Given the description of an element on the screen output the (x, y) to click on. 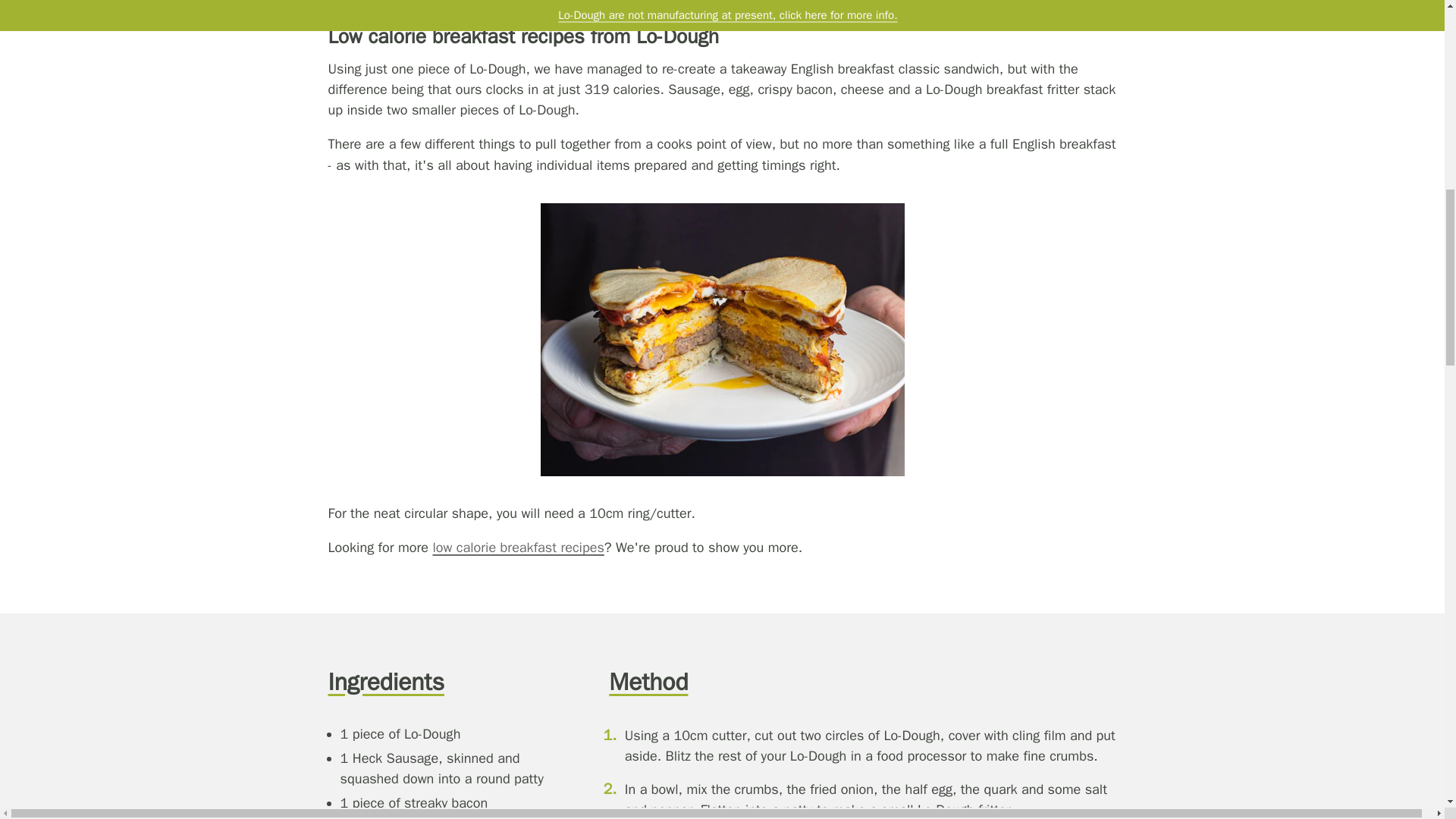
low calorie breakfast recipes (518, 547)
Low calorie breakfast recipes (518, 547)
